Given the description of an element on the screen output the (x, y) to click on. 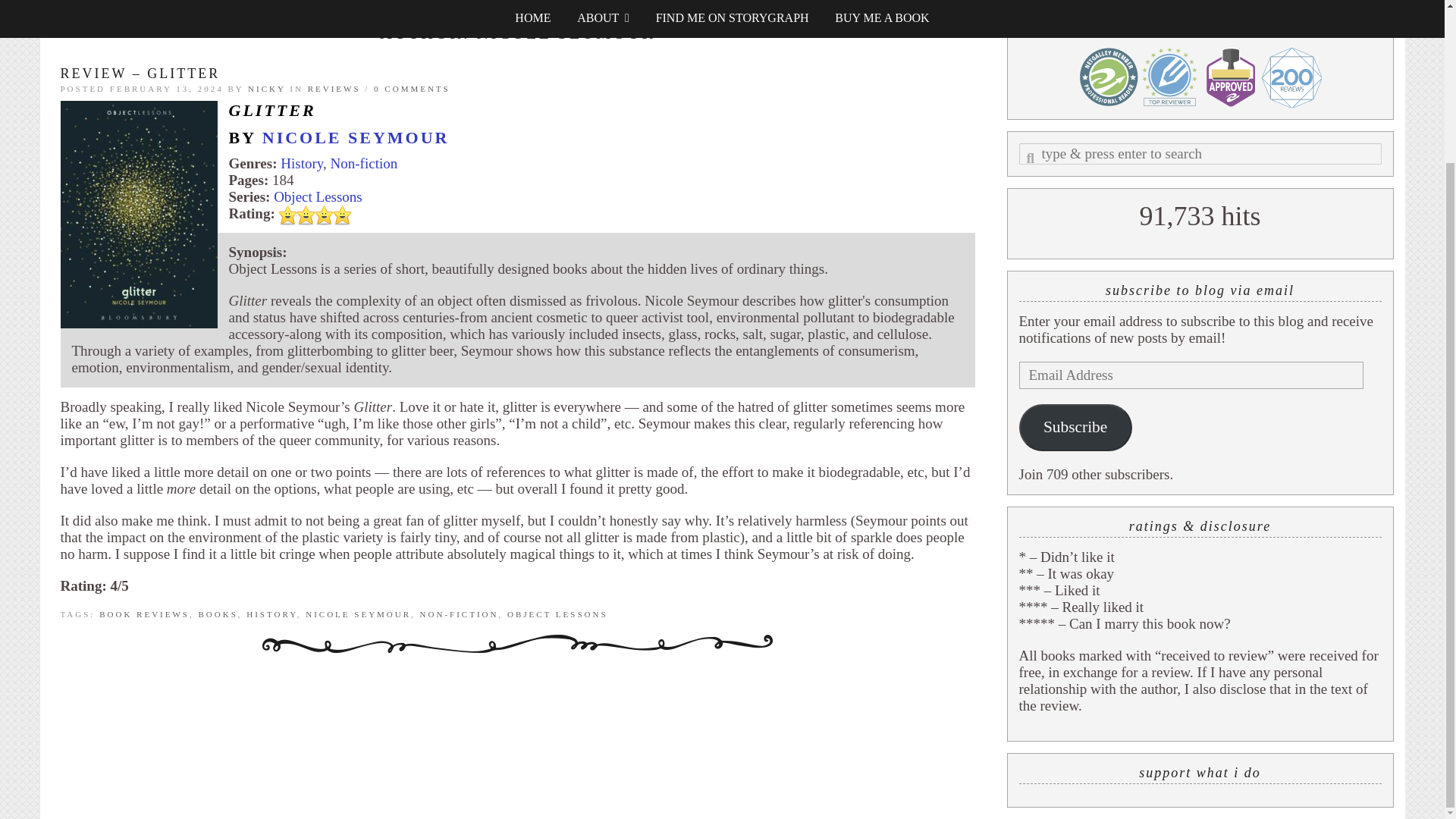
200 Book Reviews (1290, 76)
OBJECT LESSONS (557, 614)
Subscribe (1075, 427)
Object Lessons (317, 196)
BOOK REVIEWS (144, 614)
0 COMMENTS (411, 88)
BOOKS (217, 614)
Non-fiction (363, 163)
HISTORY (271, 614)
Reviews Published (1168, 76)
